Given the description of an element on the screen output the (x, y) to click on. 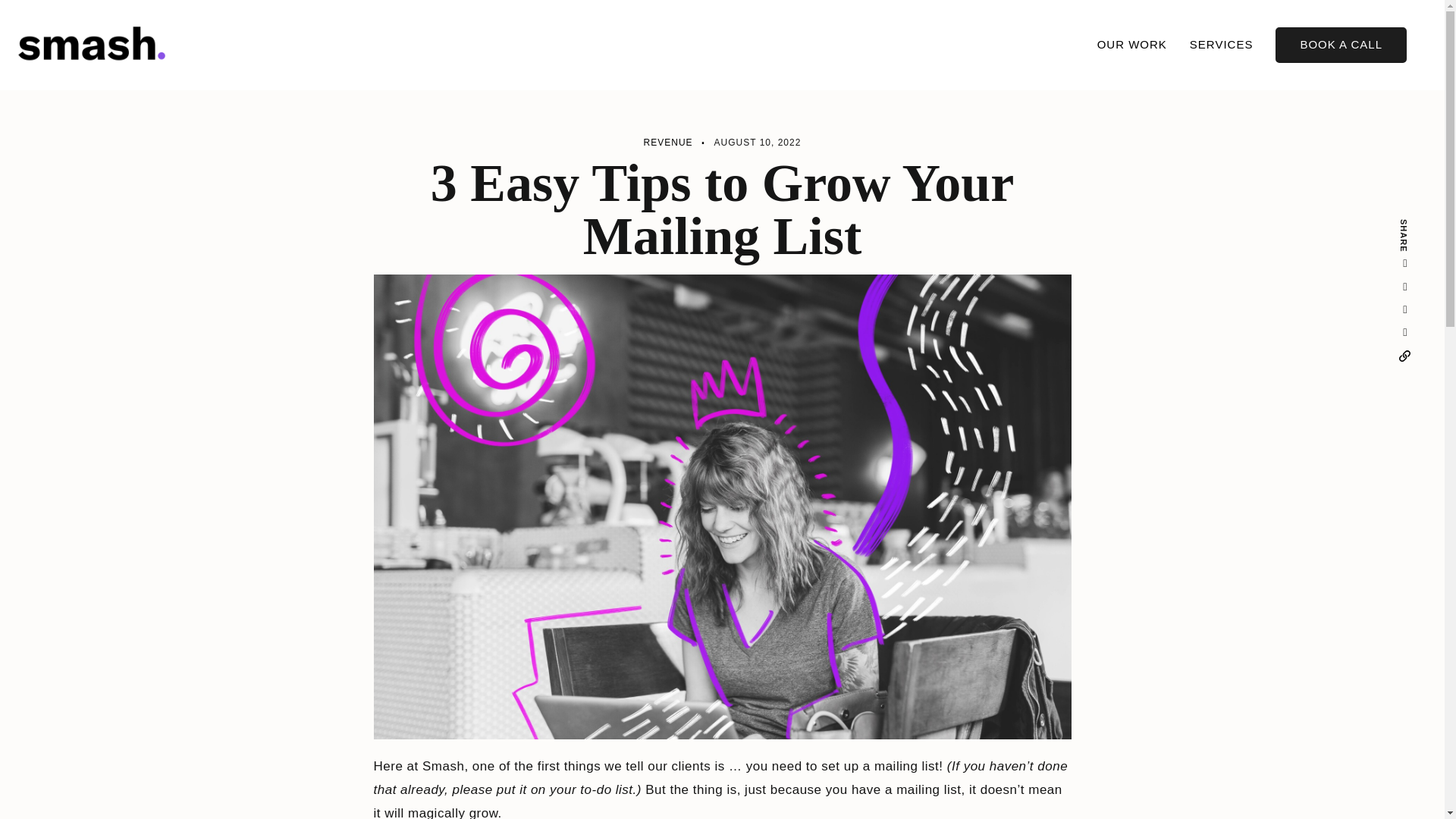
SERVICES (1221, 45)
OUR WORK (1132, 45)
REVENUE (668, 142)
BOOK A CALL (1340, 45)
